Given the description of an element on the screen output the (x, y) to click on. 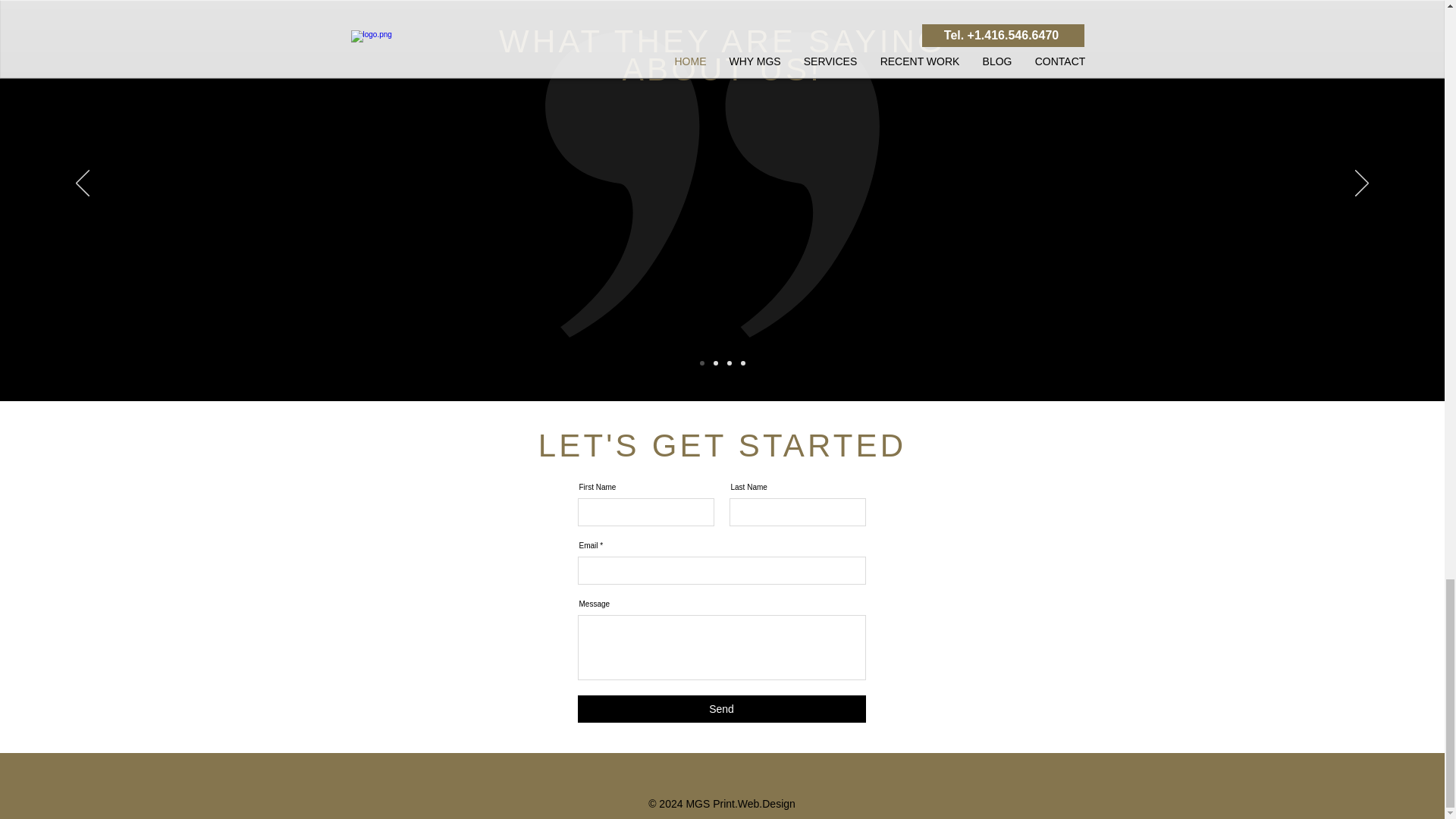
Send (722, 708)
